Given the description of an element on the screen output the (x, y) to click on. 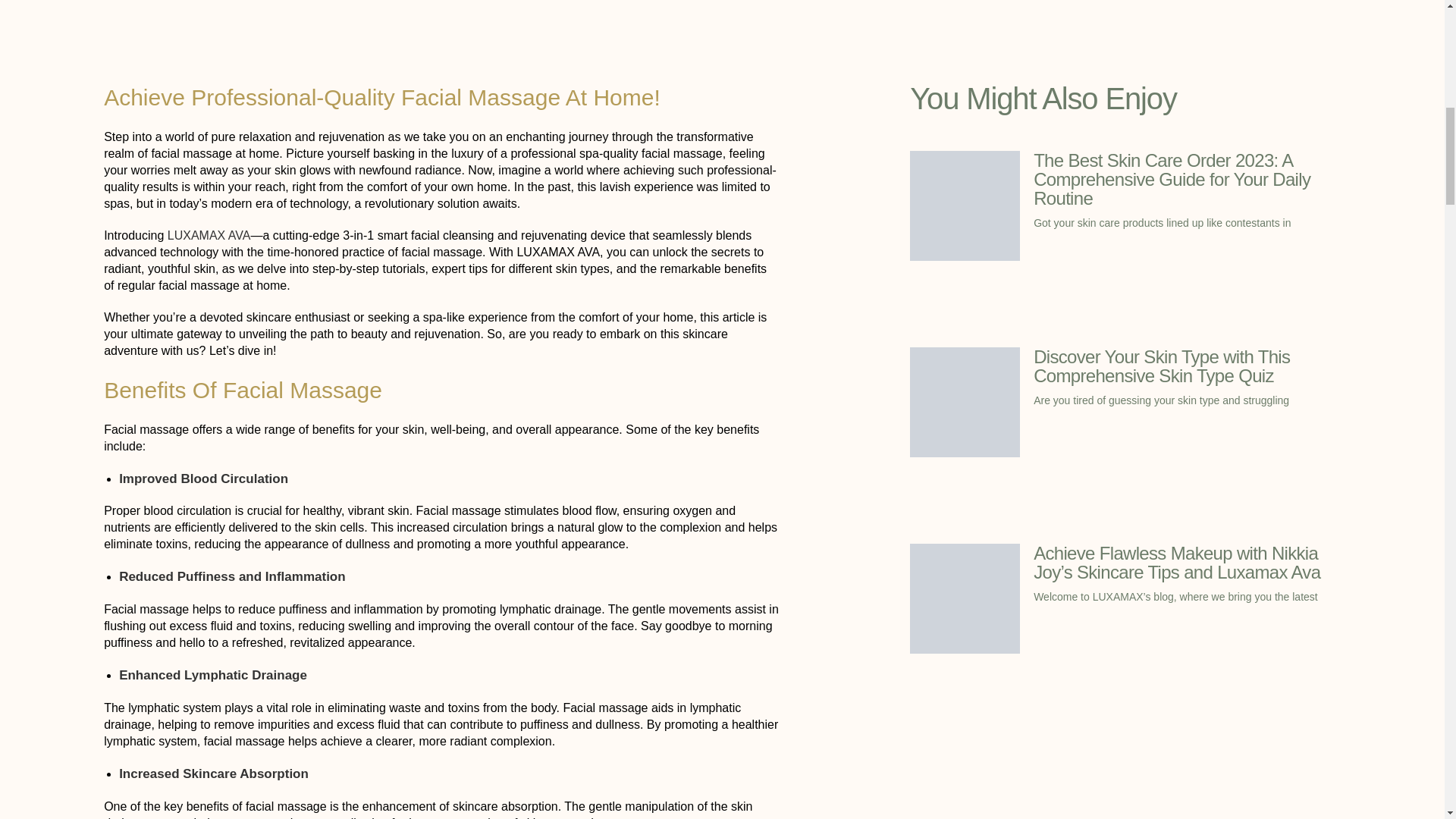
LUXAMAX AVA (206, 235)
